Given the description of an element on the screen output the (x, y) to click on. 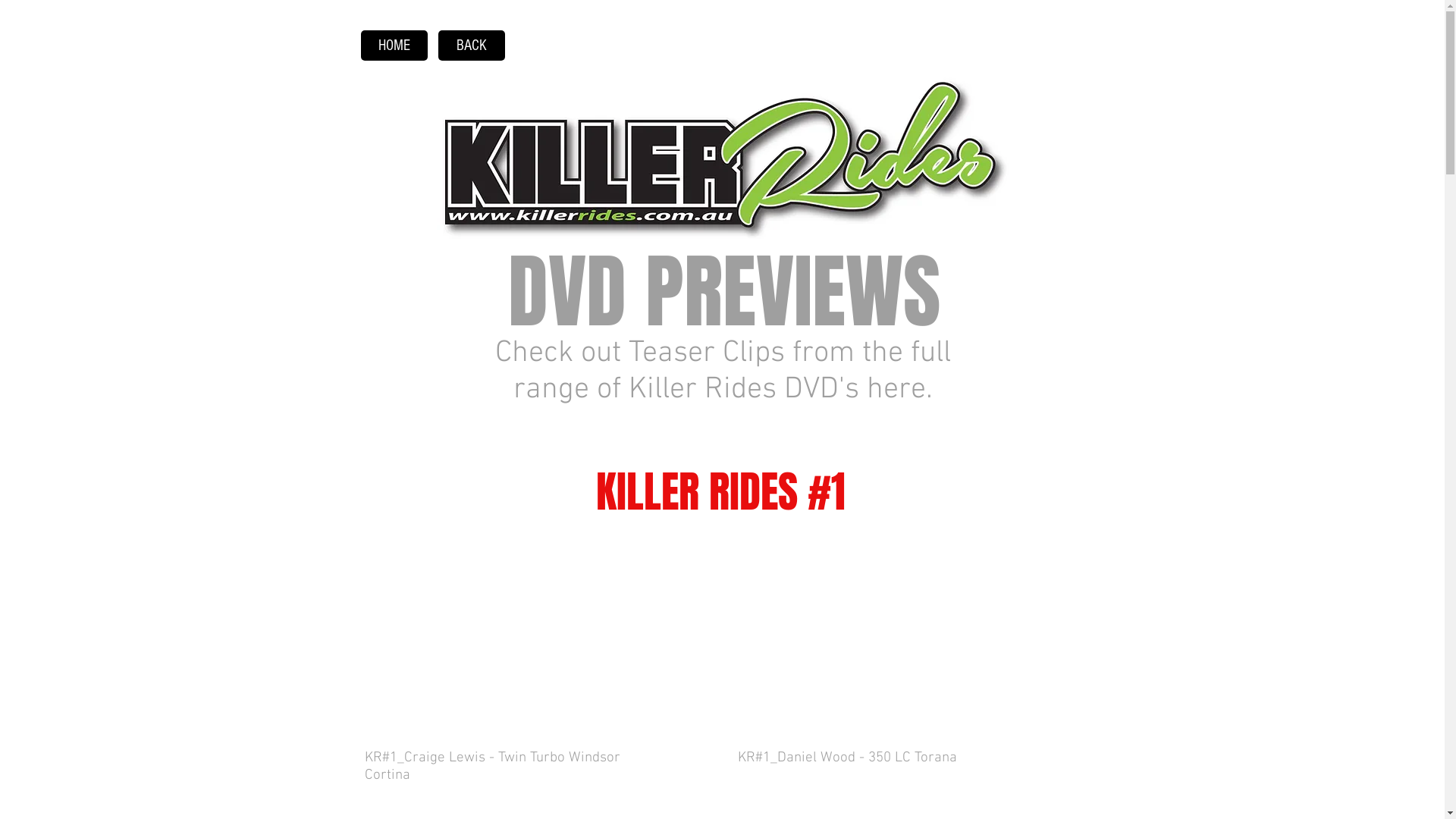
NEW KILLER RIDES LOGO.jpg Element type: hover (722, 155)
External YouTube Element type: hover (904, 634)
BACK Element type: text (471, 45)
HOME Element type: text (393, 45)
External YouTube Element type: hover (532, 634)
